Given the description of an element on the screen output the (x, y) to click on. 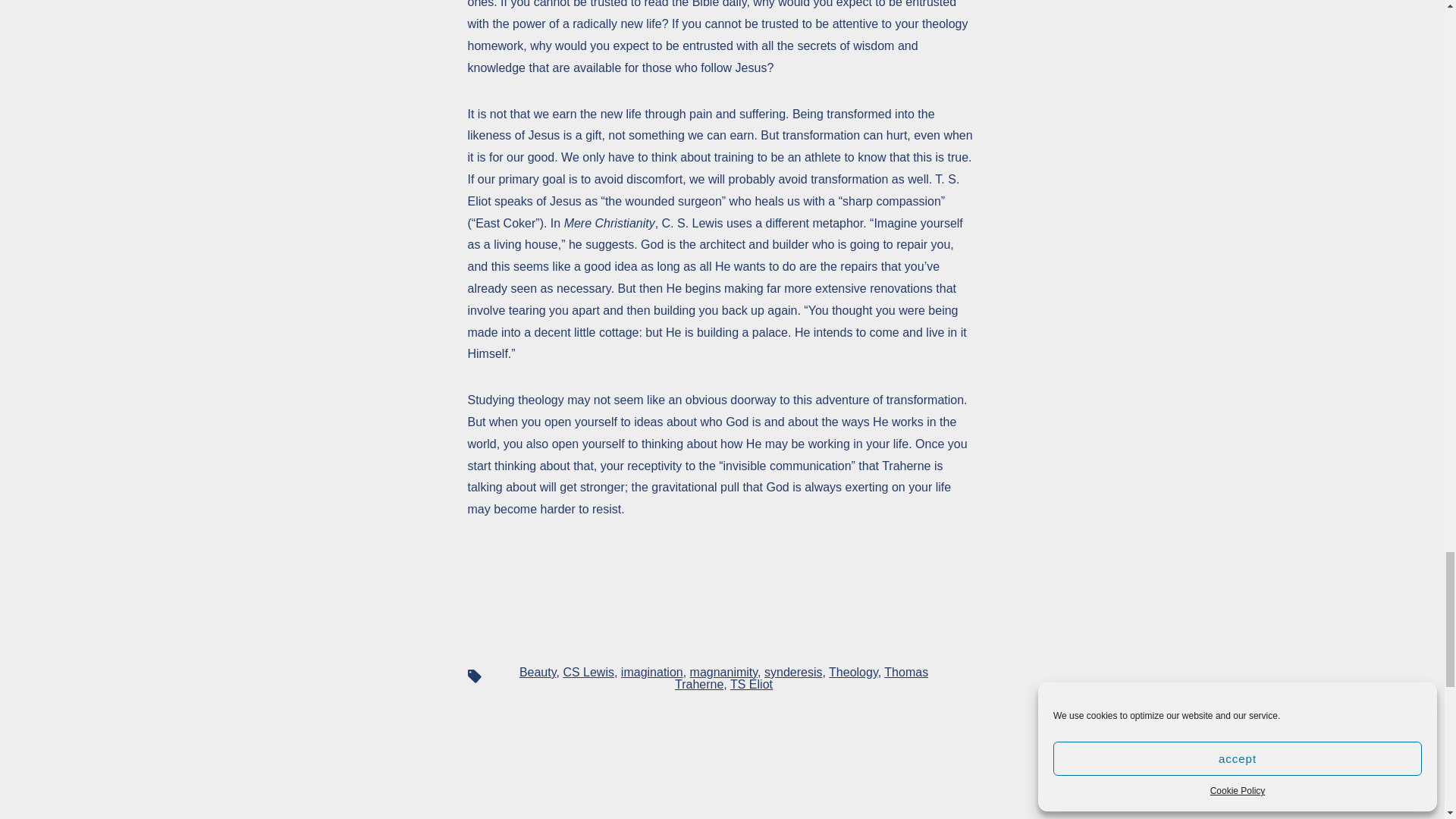
Beauty (537, 671)
imagination (651, 671)
CS Lewis (588, 671)
